Given the description of an element on the screen output the (x, y) to click on. 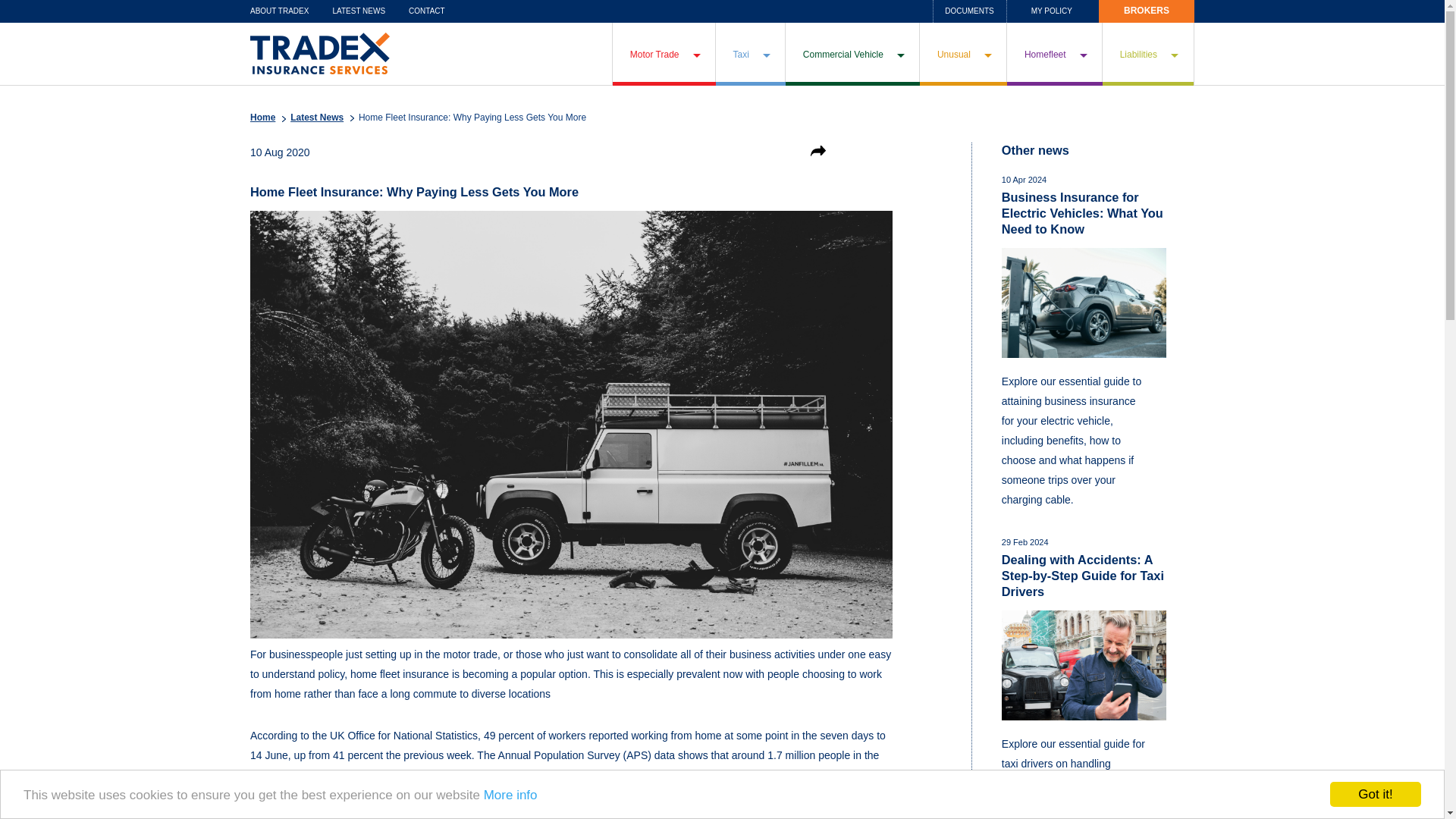
Motor Trade (664, 53)
LATEST NEWS (358, 10)
BROKERS (1146, 11)
ABOUT TRADEX (279, 10)
CONTACT (427, 10)
DOCUMENTS (968, 10)
MY POLICY (1050, 10)
